Given the description of an element on the screen output the (x, y) to click on. 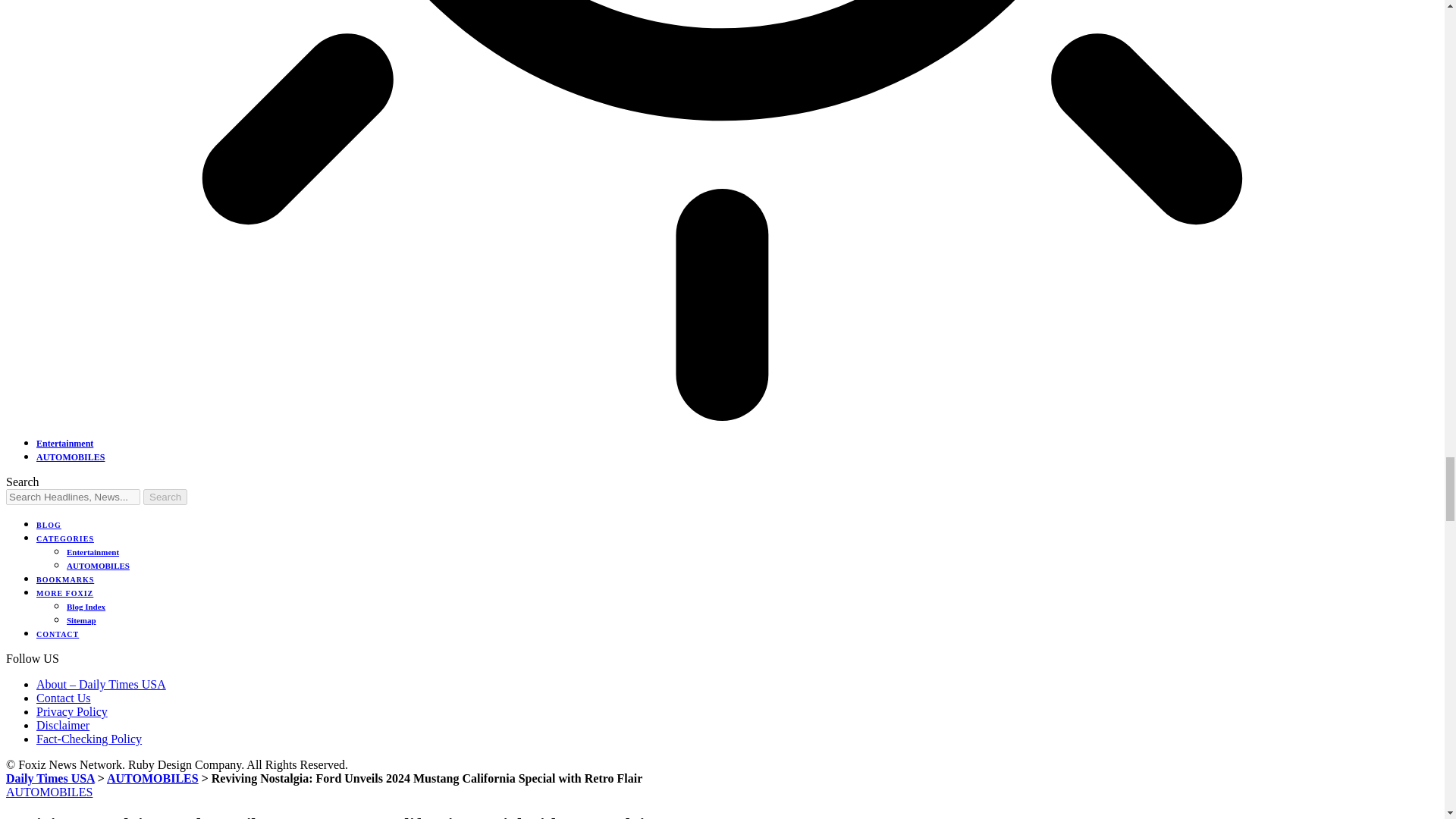
Search (164, 496)
Go to the AUTOMOBILES Category archives. (152, 778)
BLOG (48, 524)
Entertainment (92, 551)
AUTOMOBILES (97, 565)
Entertainment (64, 443)
Privacy Policy (71, 711)
CATEGORIES (65, 538)
AUTOMOBILES (152, 778)
AUTOMOBILES (70, 457)
